Given the description of an element on the screen output the (x, y) to click on. 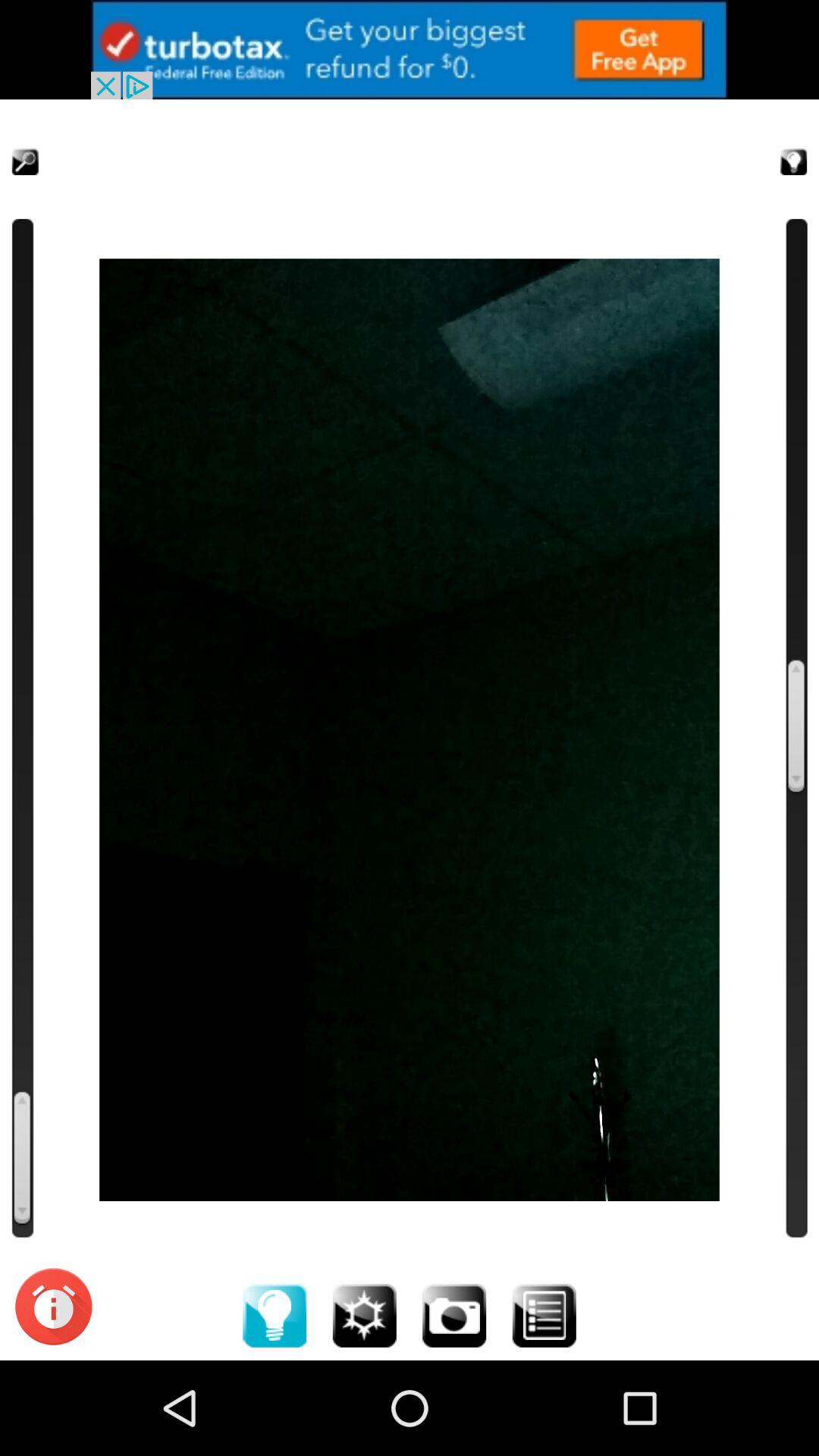
add idea (274, 1315)
